Given the description of an element on the screen output the (x, y) to click on. 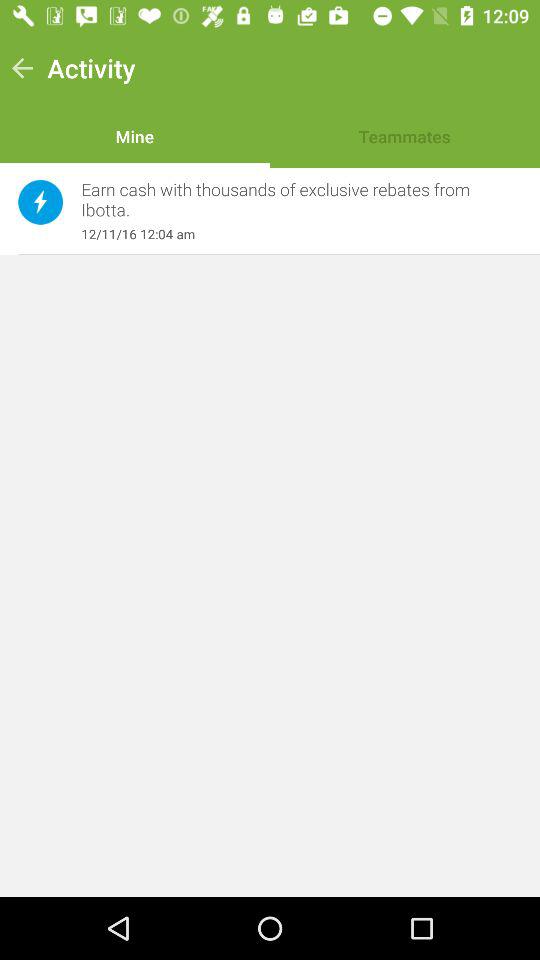
turn on the activity (91, 67)
